Given the description of an element on the screen output the (x, y) to click on. 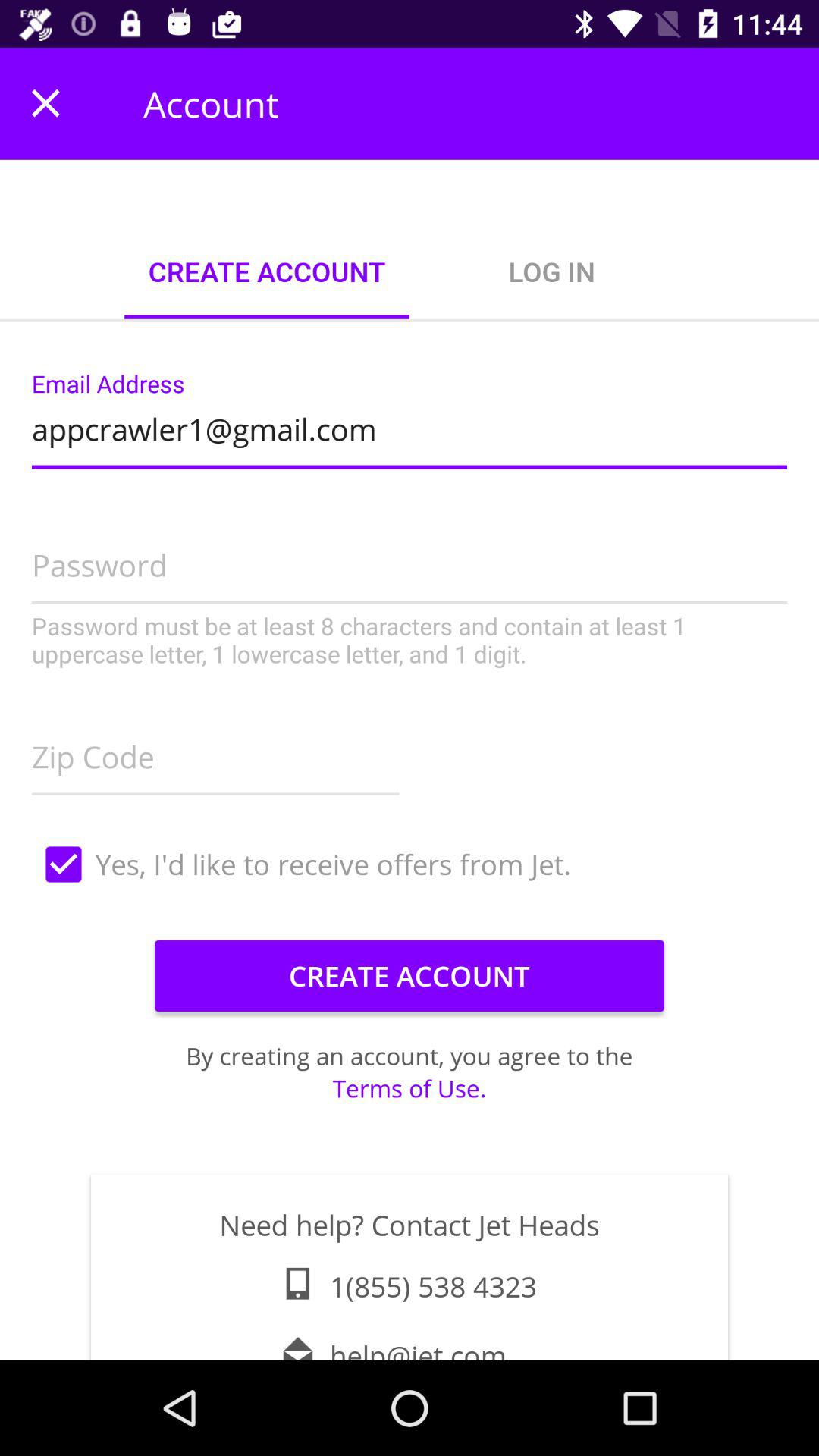
click the icon above the yes i d (215, 752)
